Given the description of an element on the screen output the (x, y) to click on. 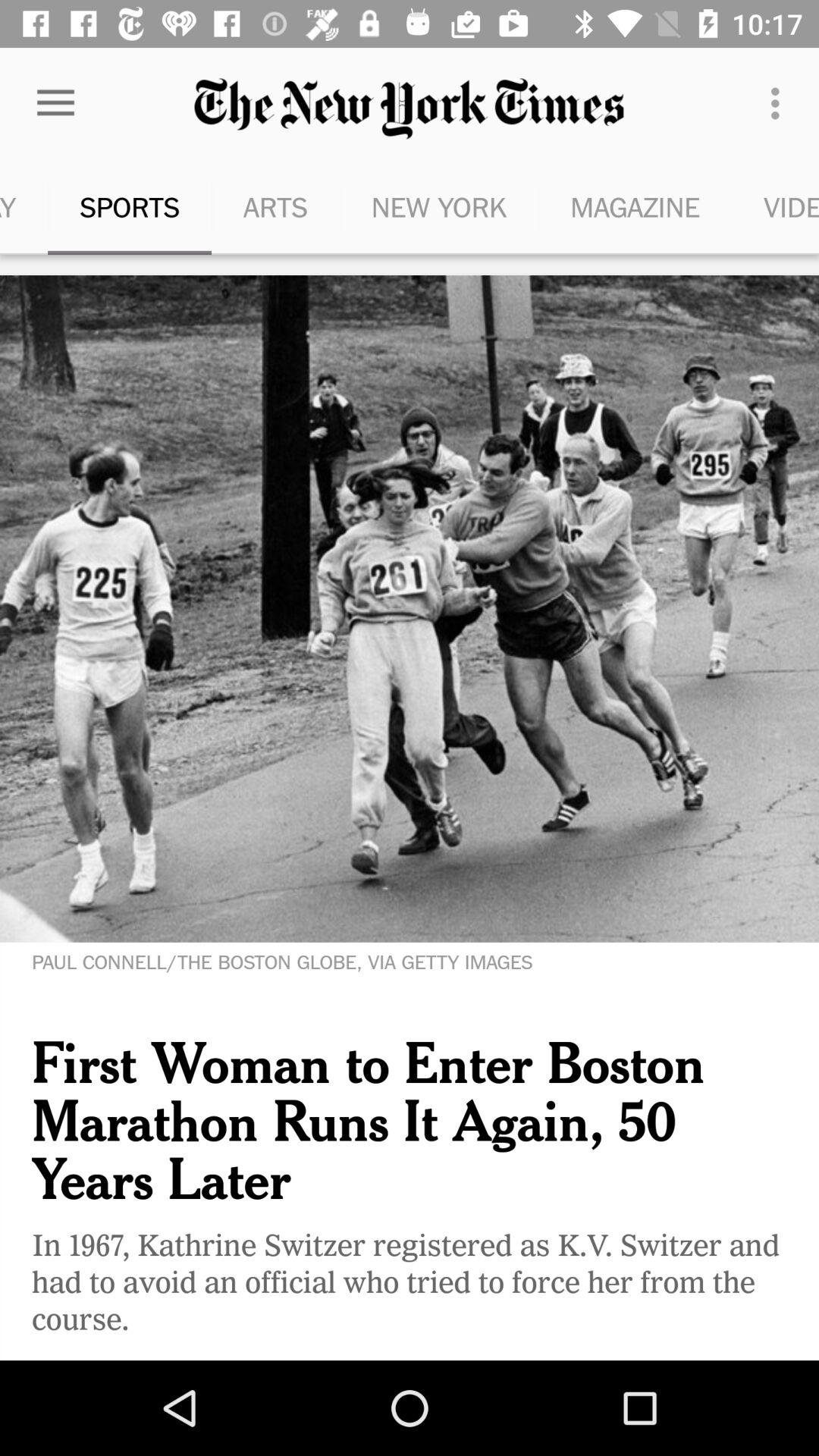
turn off icon next to arts icon (129, 206)
